Given the description of an element on the screen output the (x, y) to click on. 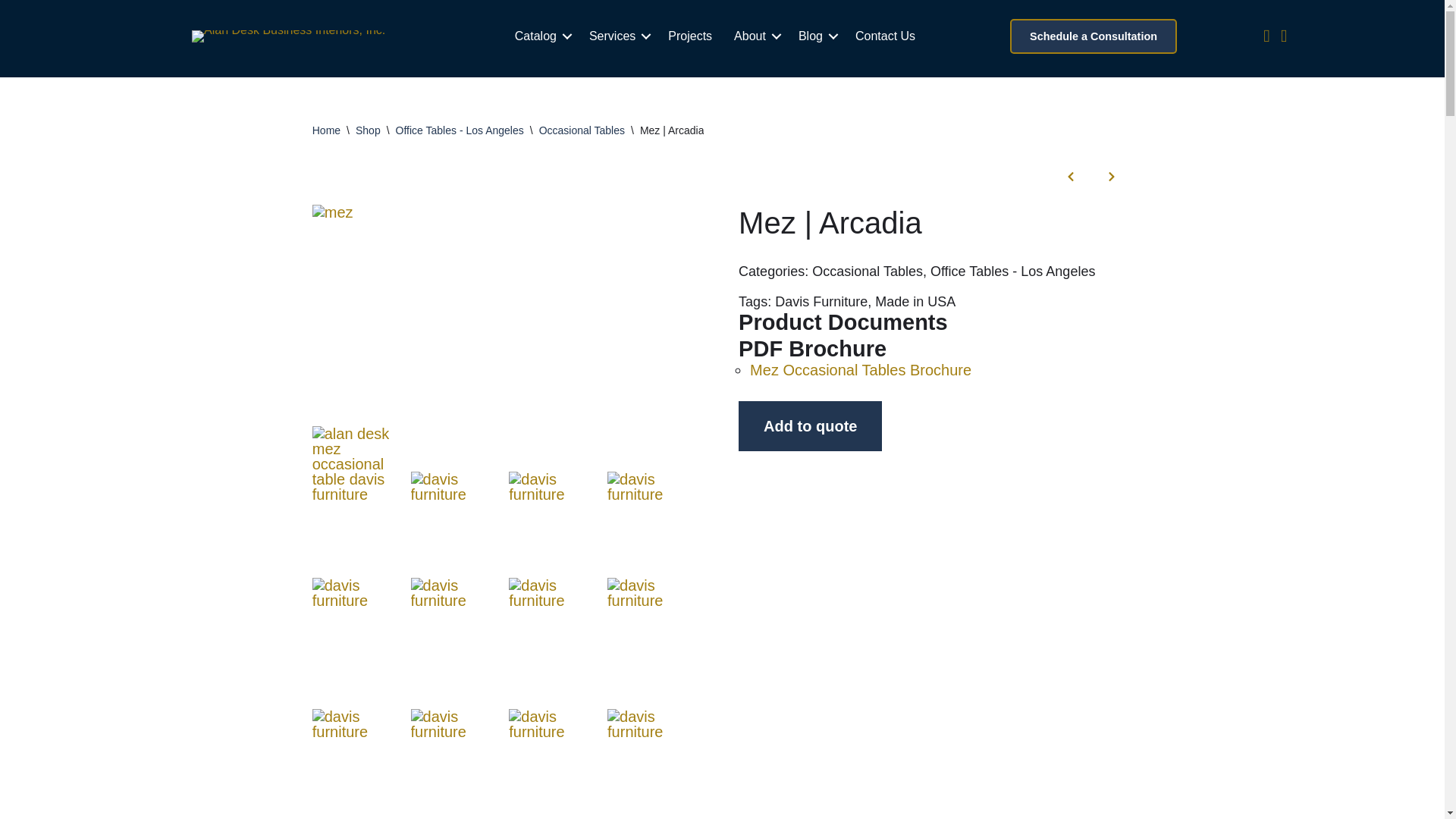
logo-new-white (288, 36)
About (755, 36)
Blog (815, 36)
Skip to content (11, 31)
Services (617, 36)
Click Here (1093, 36)
Projects (690, 36)
Catalog (540, 36)
